Given the description of an element on the screen output the (x, y) to click on. 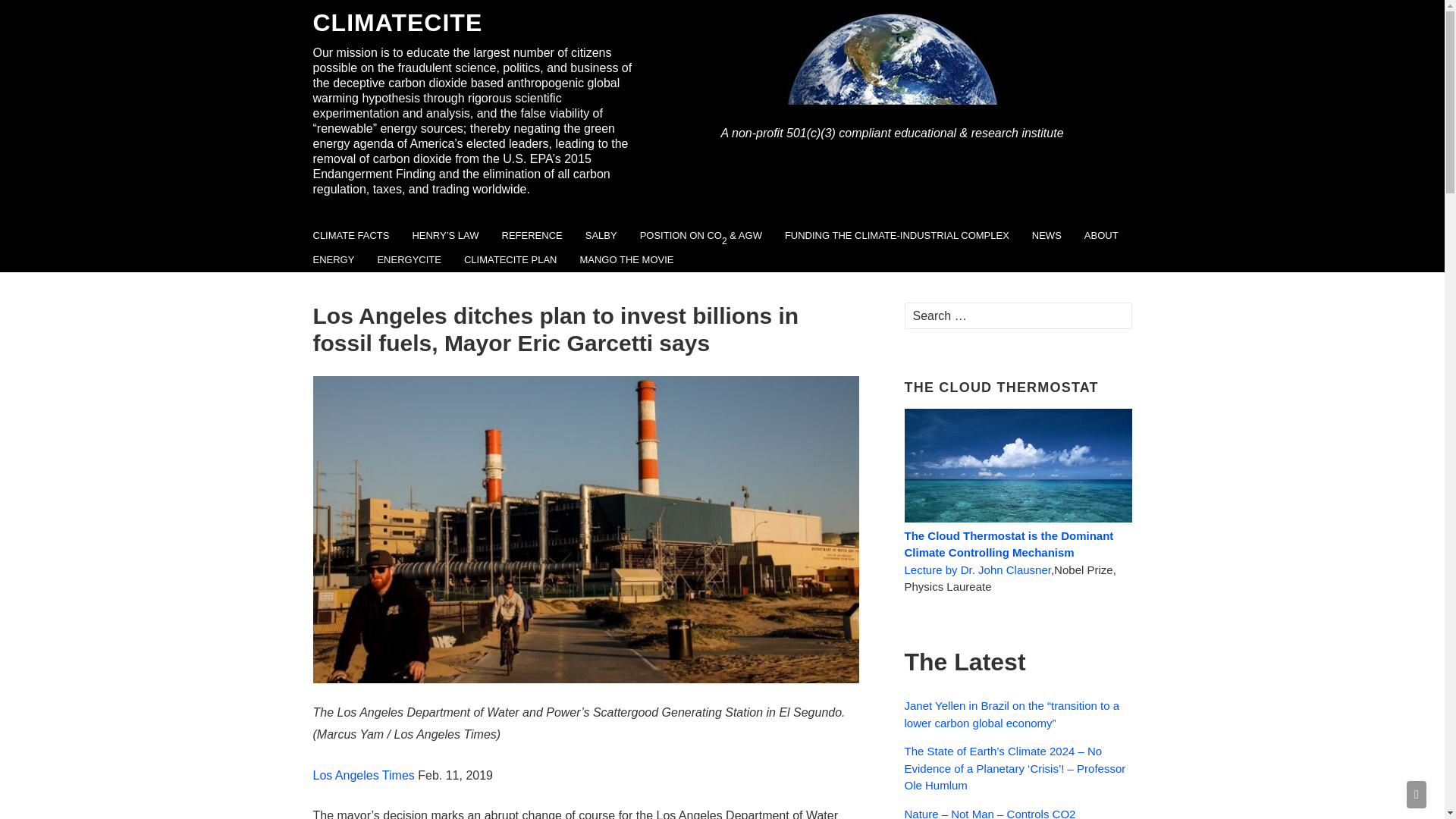
ABOUT (1101, 235)
CLIMATECITE (475, 22)
REFERENCE (531, 235)
CLIMATE FACTS (351, 235)
NEWS (1046, 235)
FUNDING THE CLIMATE-INDUSTRIAL COMPLEX (896, 235)
SALBY (600, 235)
